Given the description of an element on the screen output the (x, y) to click on. 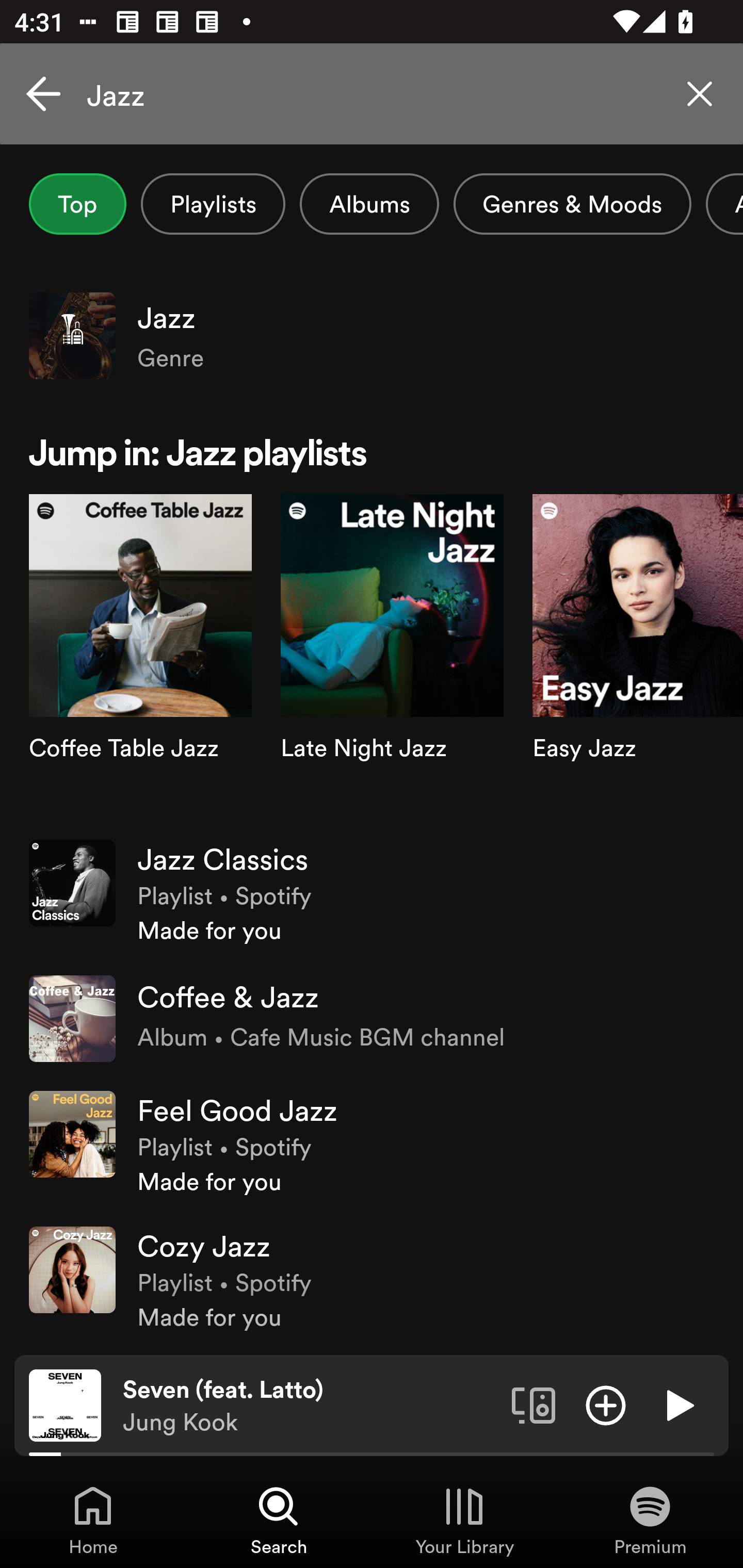
Jazz (371, 93)
Cancel (43, 93)
Clear search query (699, 93)
Top (77, 203)
Playlists (213, 203)
Albums (369, 203)
Genres & Moods (572, 203)
Jazz Genre (371, 335)
Search card image Coffee Table Jazz (139, 658)
Search card image Late Night Jazz (391, 658)
Search card image Easy Jazz (637, 658)
Jazz Classics Playlist • Spotify Made for you (371, 892)
Coffee & Jazz Album • Cafe Music BGM channel (371, 1019)
Feel Good Jazz Playlist • Spotify Made for you (371, 1144)
Cozy Jazz Playlist • Spotify Made for you (371, 1280)
Seven (feat. Latto) Jung Kook (309, 1405)
The cover art of the currently playing track (64, 1404)
Connect to a device. Opens the devices menu (533, 1404)
Add item (605, 1404)
Play (677, 1404)
Home, Tab 1 of 4 Home Home (92, 1519)
Search, Tab 2 of 4 Search Search (278, 1519)
Your Library, Tab 3 of 4 Your Library Your Library (464, 1519)
Premium, Tab 4 of 4 Premium Premium (650, 1519)
